Given the description of an element on the screen output the (x, y) to click on. 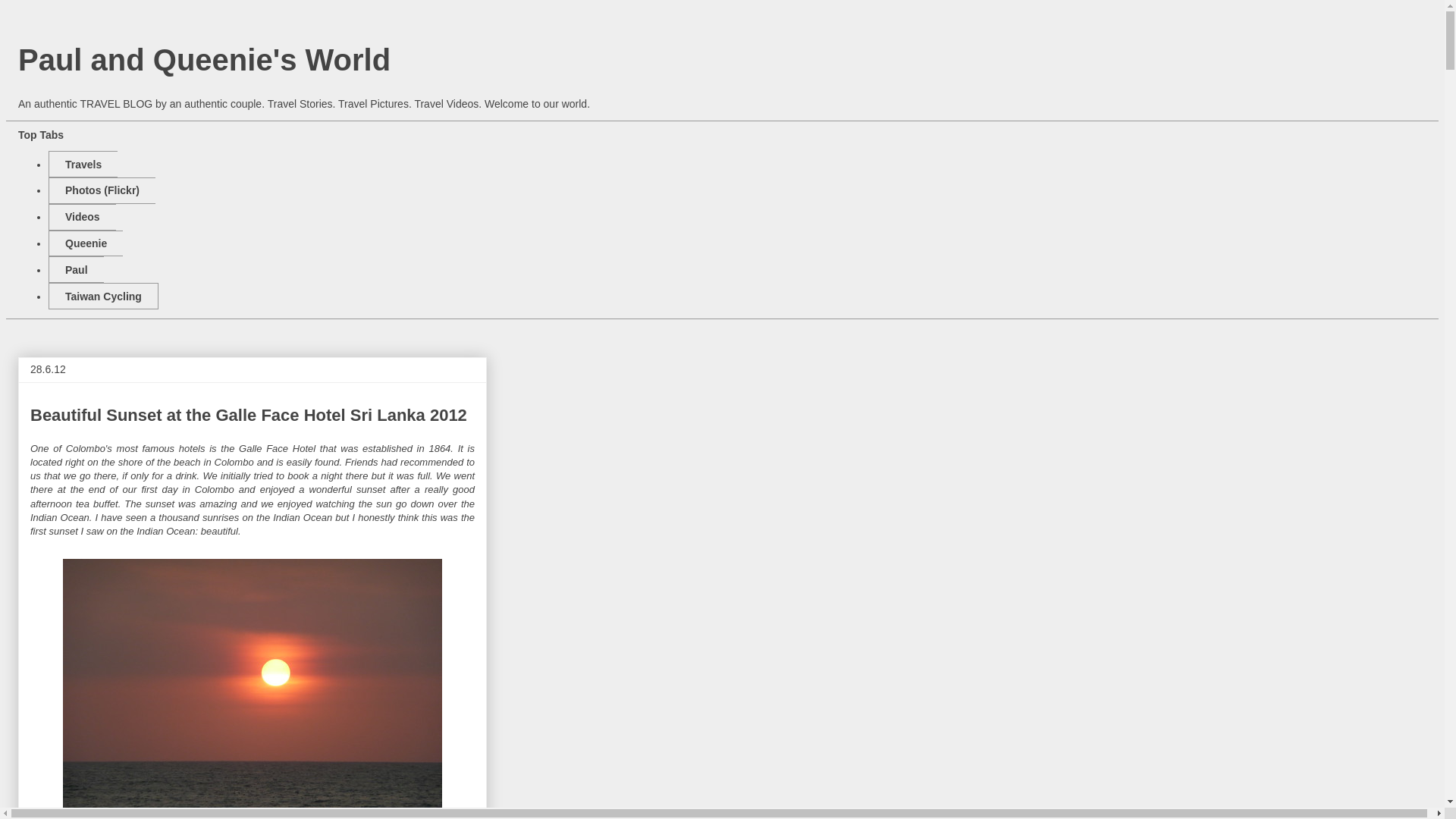
Queenie (85, 243)
Travels (82, 163)
Videos (82, 216)
Paul (75, 269)
Paul and Queenie's World (203, 59)
Taiwan Cycling (103, 295)
